Given the description of an element on the screen output the (x, y) to click on. 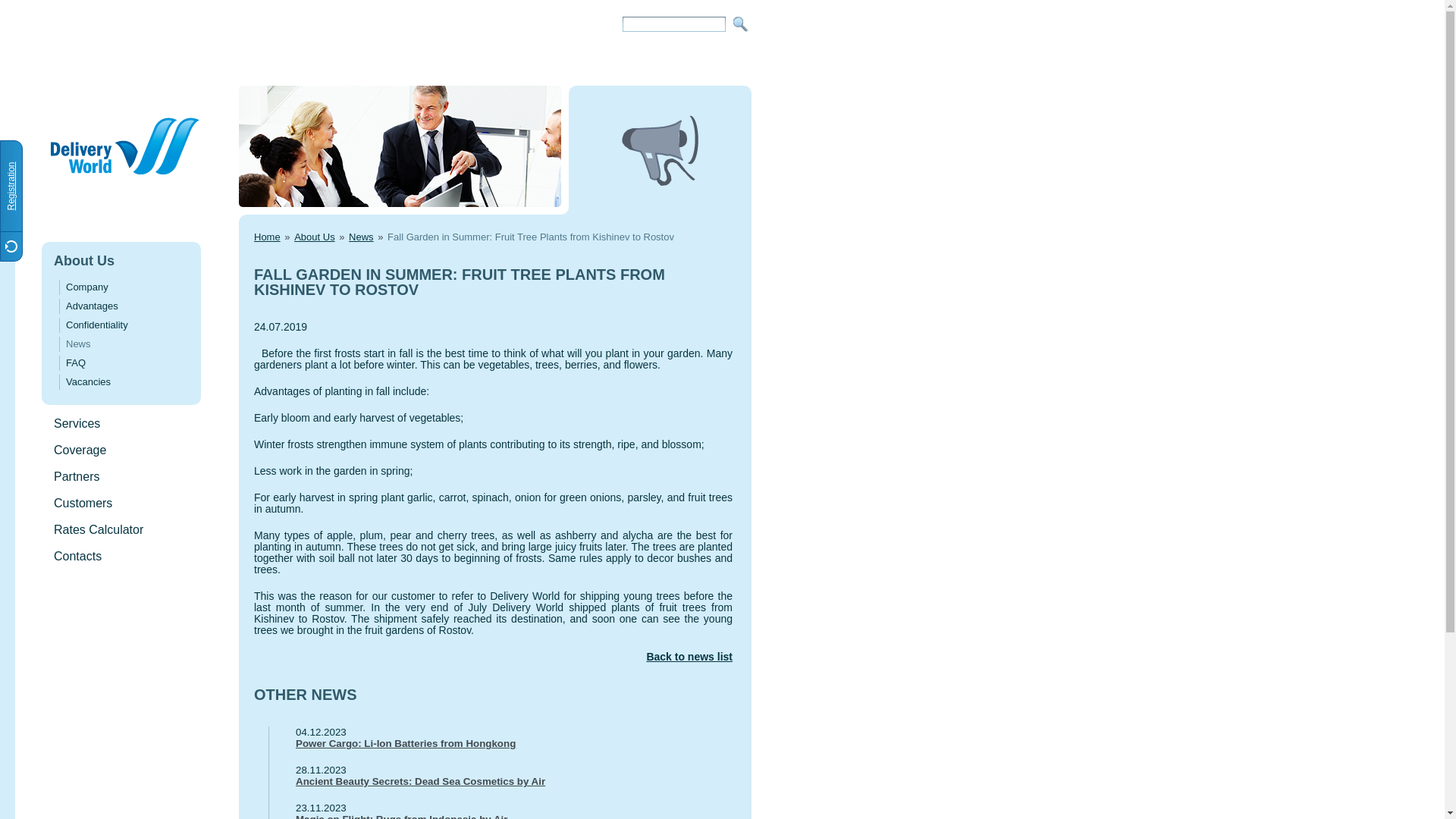
Home (267, 236)
About Us (314, 236)
News (361, 236)
Rates Calculator (97, 529)
Confidentiality (96, 324)
Registration (60, 151)
FAQ (75, 362)
News (77, 343)
Contacts (77, 555)
About Us (84, 260)
Magic on Flight: Rugs from Indonesia by Air (500, 816)
Services (76, 422)
Vacancies (87, 381)
Customers (82, 502)
Back to news list (492, 656)
